Given the description of an element on the screen output the (x, y) to click on. 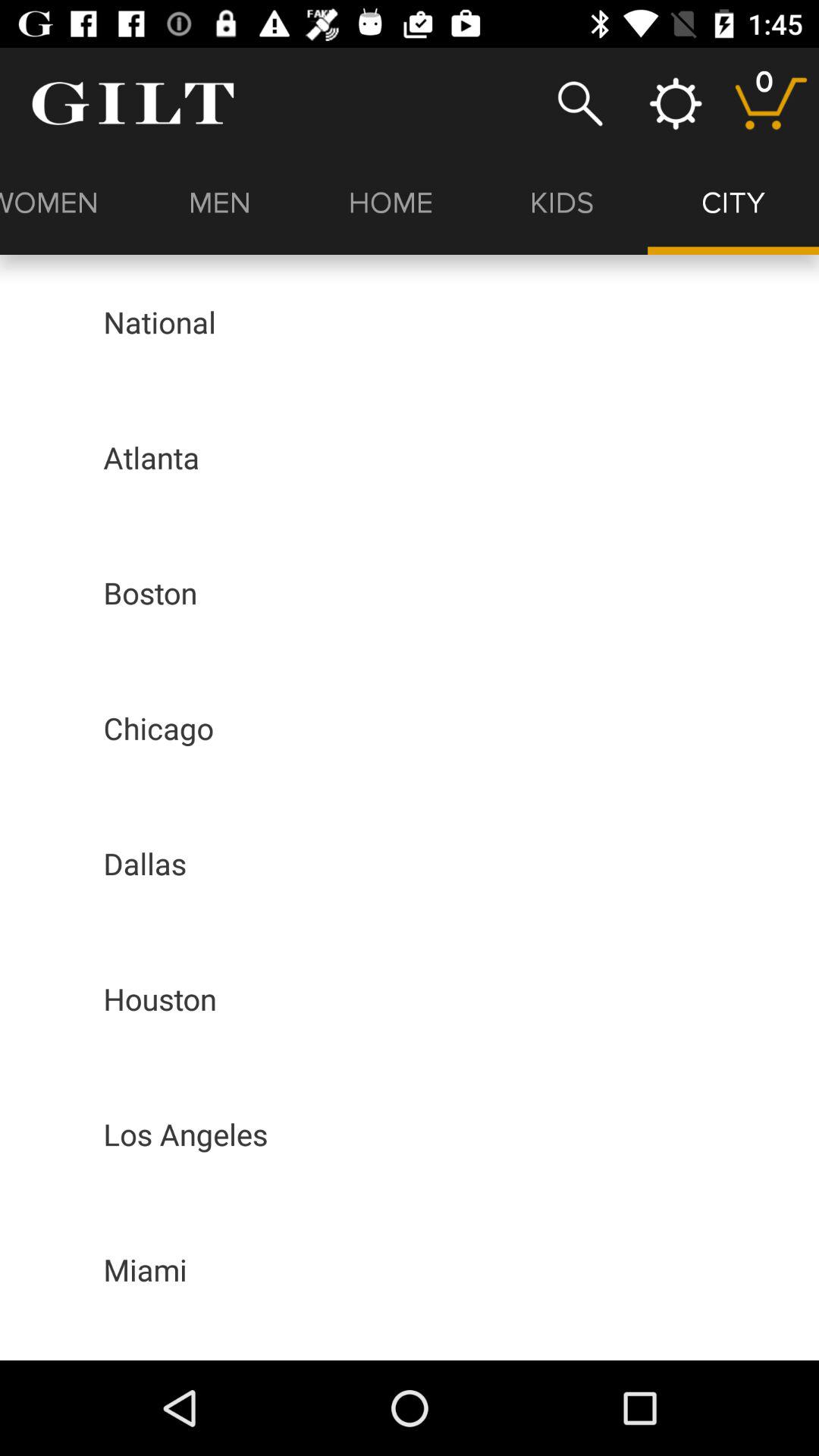
press the item above the boston item (151, 457)
